Given the description of an element on the screen output the (x, y) to click on. 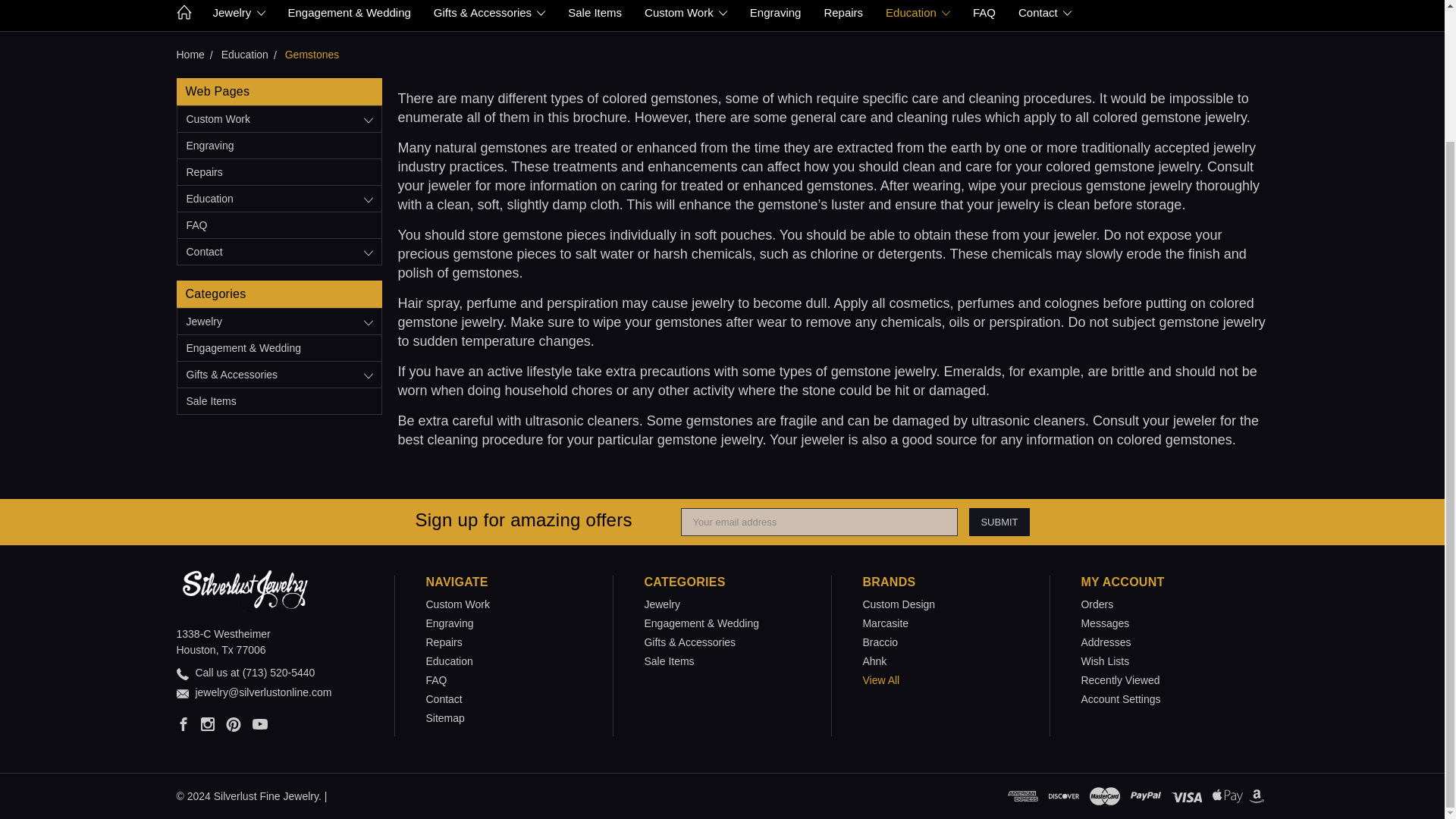
Silverlust Fine Jewelry (244, 589)
Submit (999, 521)
Jewelry (239, 15)
